Given the description of an element on the screen output the (x, y) to click on. 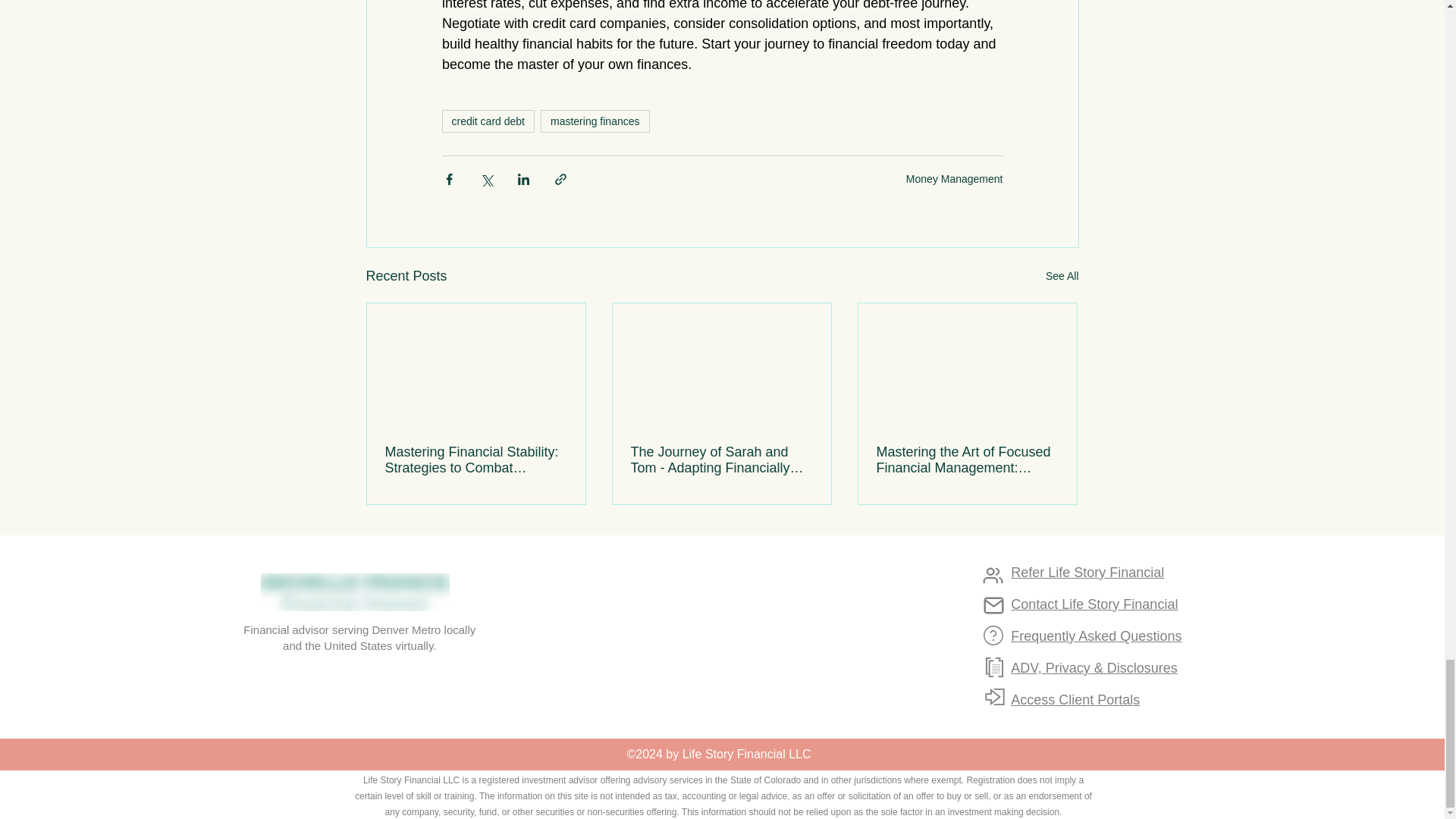
See All (1061, 276)
Money Management (954, 177)
mastering finances (594, 120)
credit card debt (487, 120)
